Given the description of an element on the screen output the (x, y) to click on. 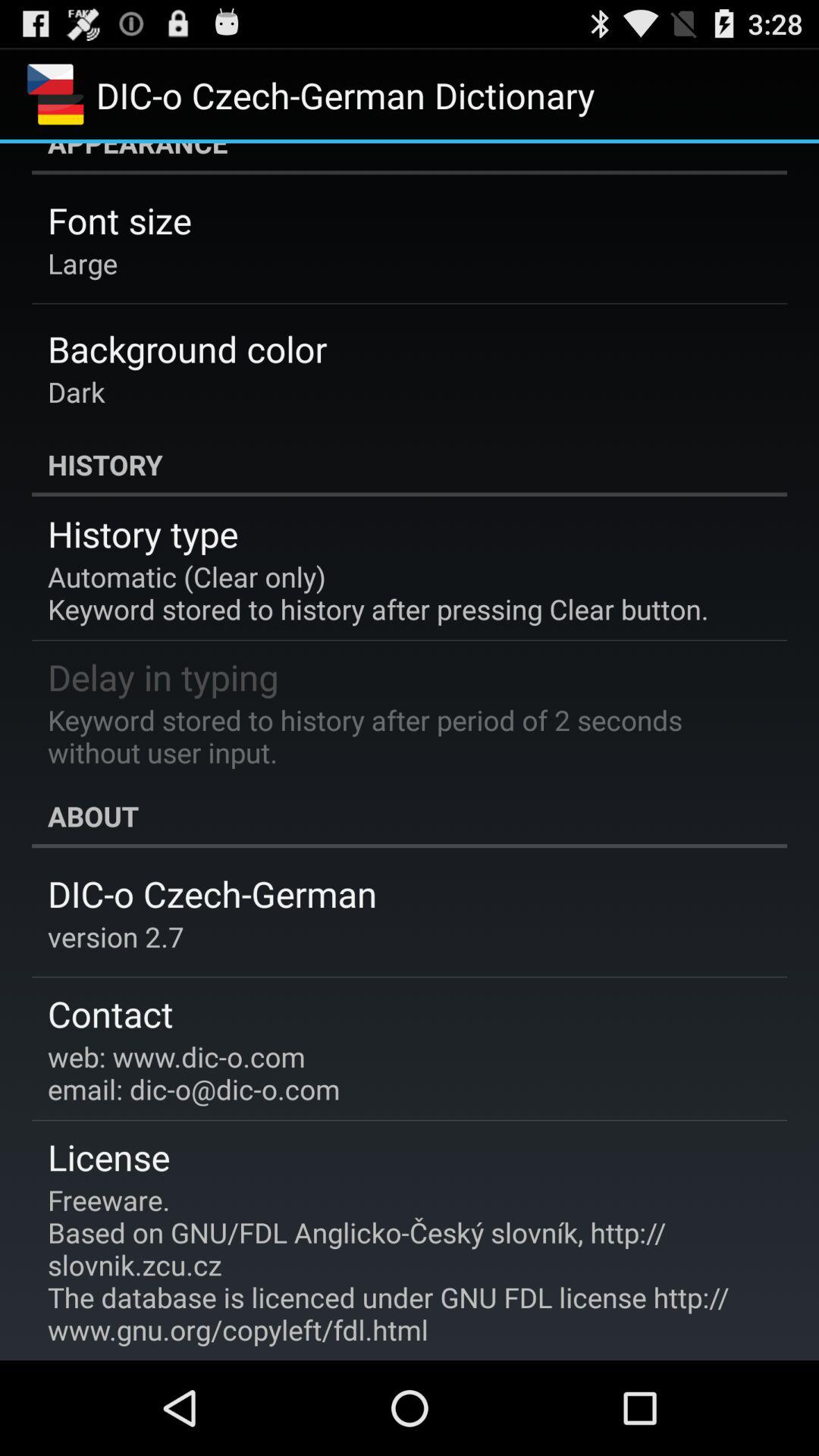
flip to font size item (119, 220)
